Given the description of an element on the screen output the (x, y) to click on. 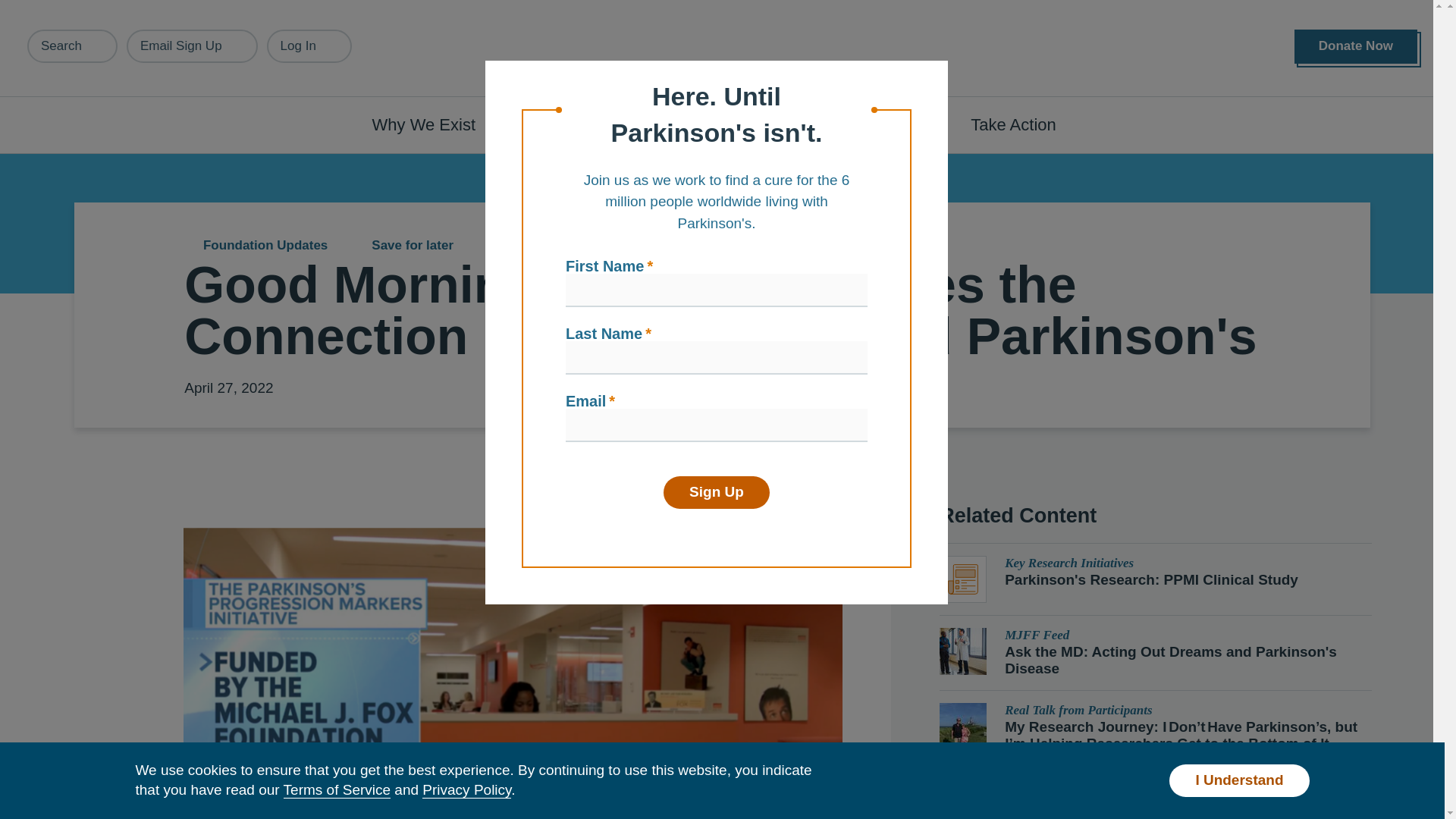
Why We Exist (432, 125)
Skip to main content (96, 7)
Email Sign Up (191, 46)
Donate Now (1355, 46)
Home Page (722, 48)
Understanding Parkinson's (640, 125)
Log In (309, 46)
Search (72, 46)
